Given the description of an element on the screen output the (x, y) to click on. 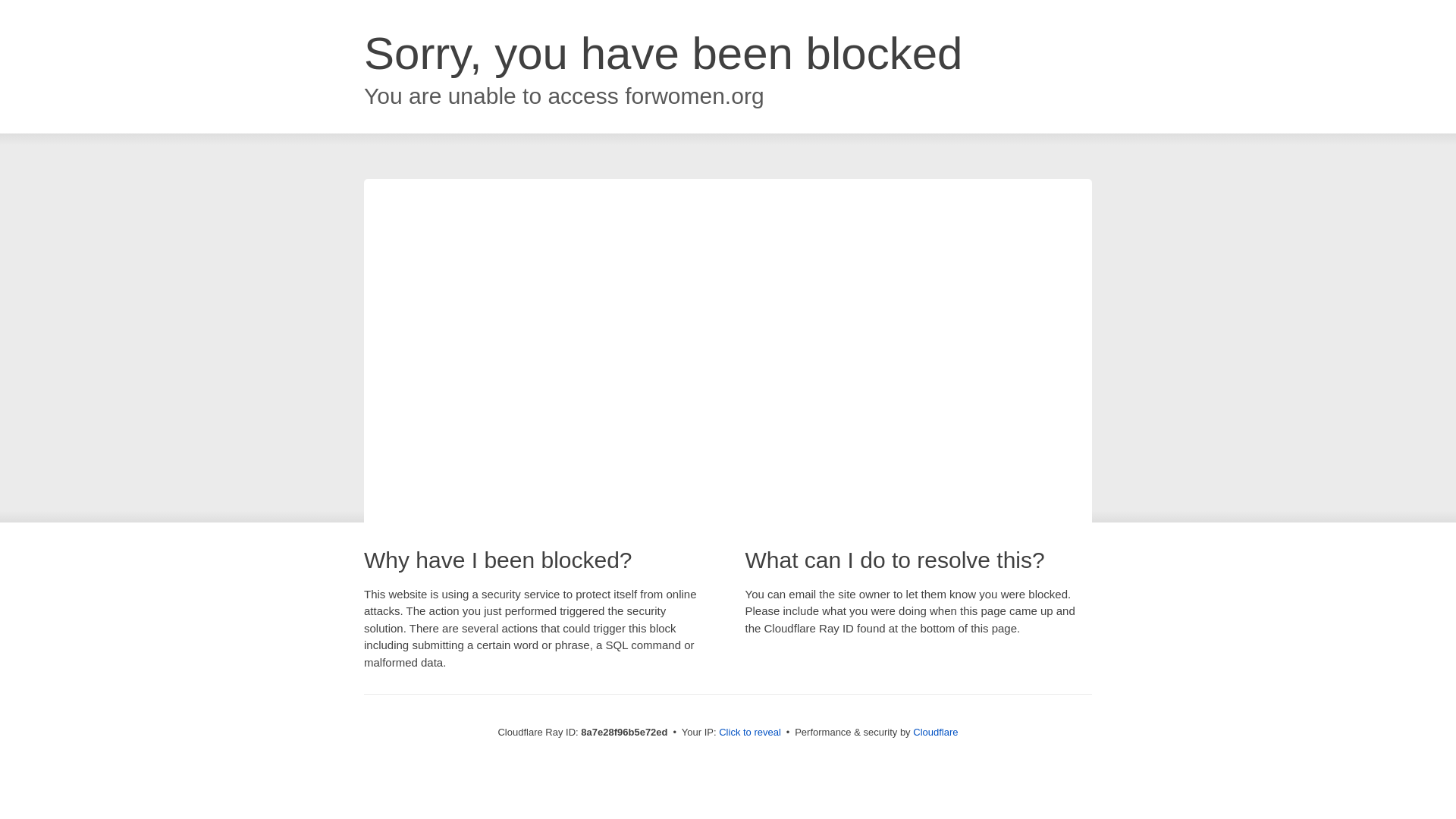
Cloudflare (935, 731)
Click to reveal (749, 732)
